Given the description of an element on the screen output the (x, y) to click on. 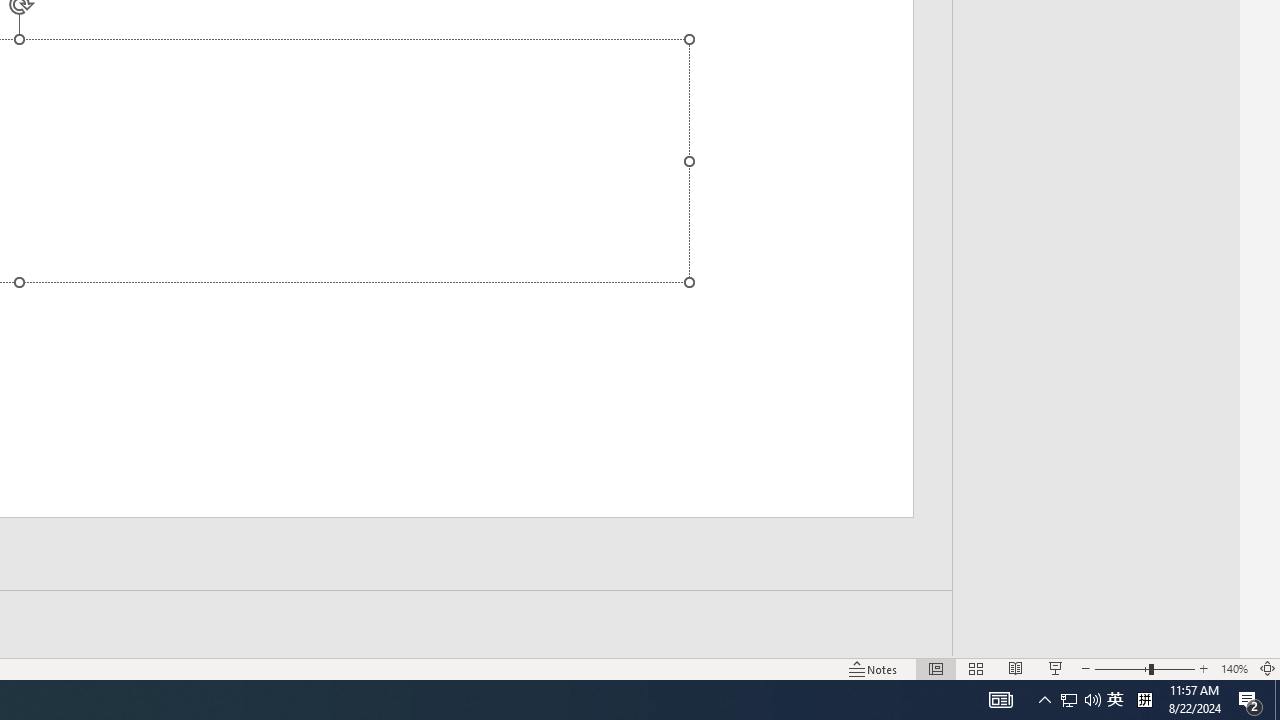
Zoom 140% (1234, 668)
